Given the description of an element on the screen output the (x, y) to click on. 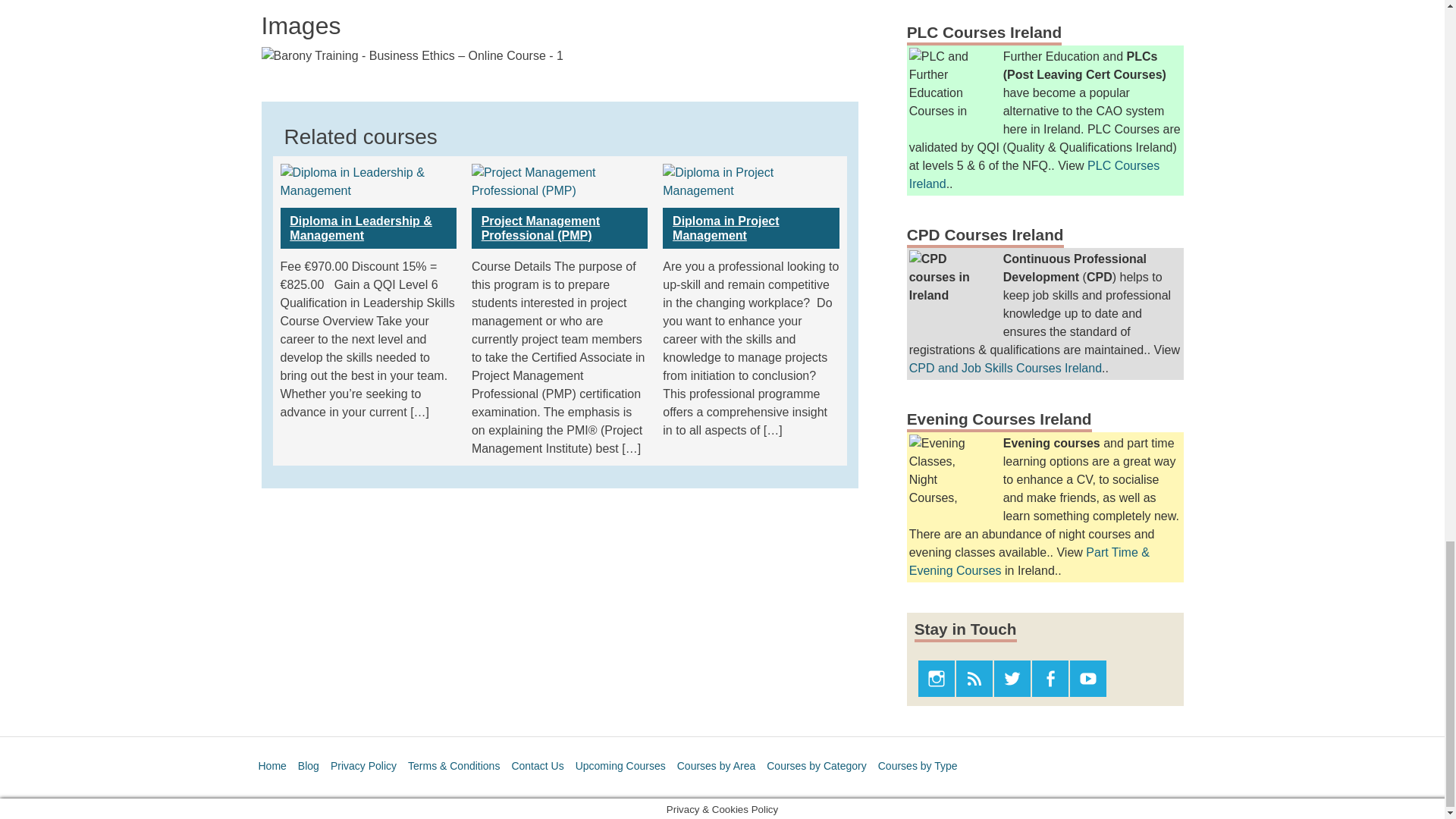
Diploma in Project Management (750, 228)
Diploma in Project Management (750, 180)
